Given the description of an element on the screen output the (x, y) to click on. 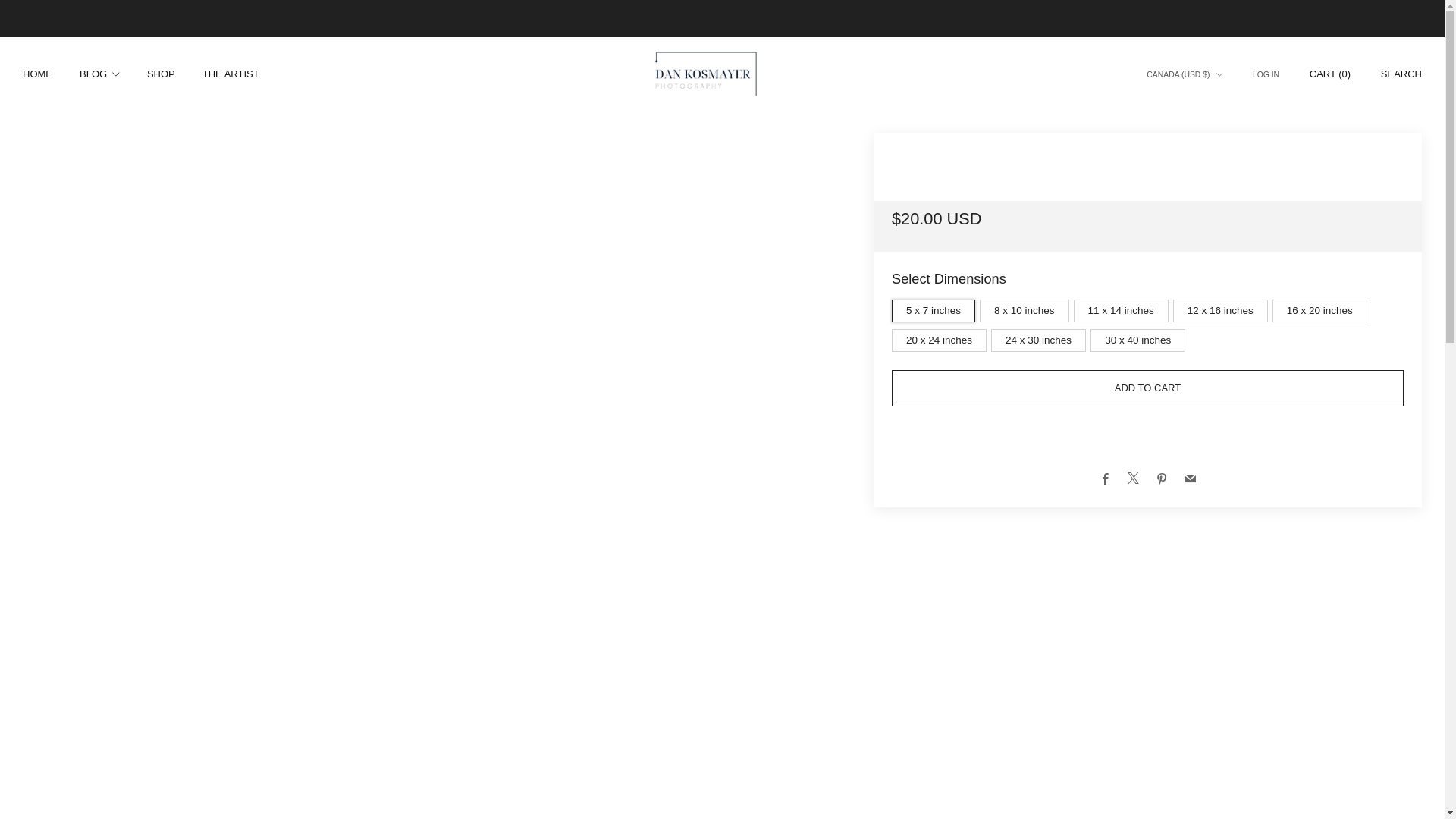
11 x 14 inches (1123, 307)
THE ARTIST (230, 73)
20 x 24 inches (941, 337)
12 x 16 inches (1222, 307)
BLOG (99, 73)
HOME (37, 73)
5 x 7 inches (935, 307)
